Given the description of an element on the screen output the (x, y) to click on. 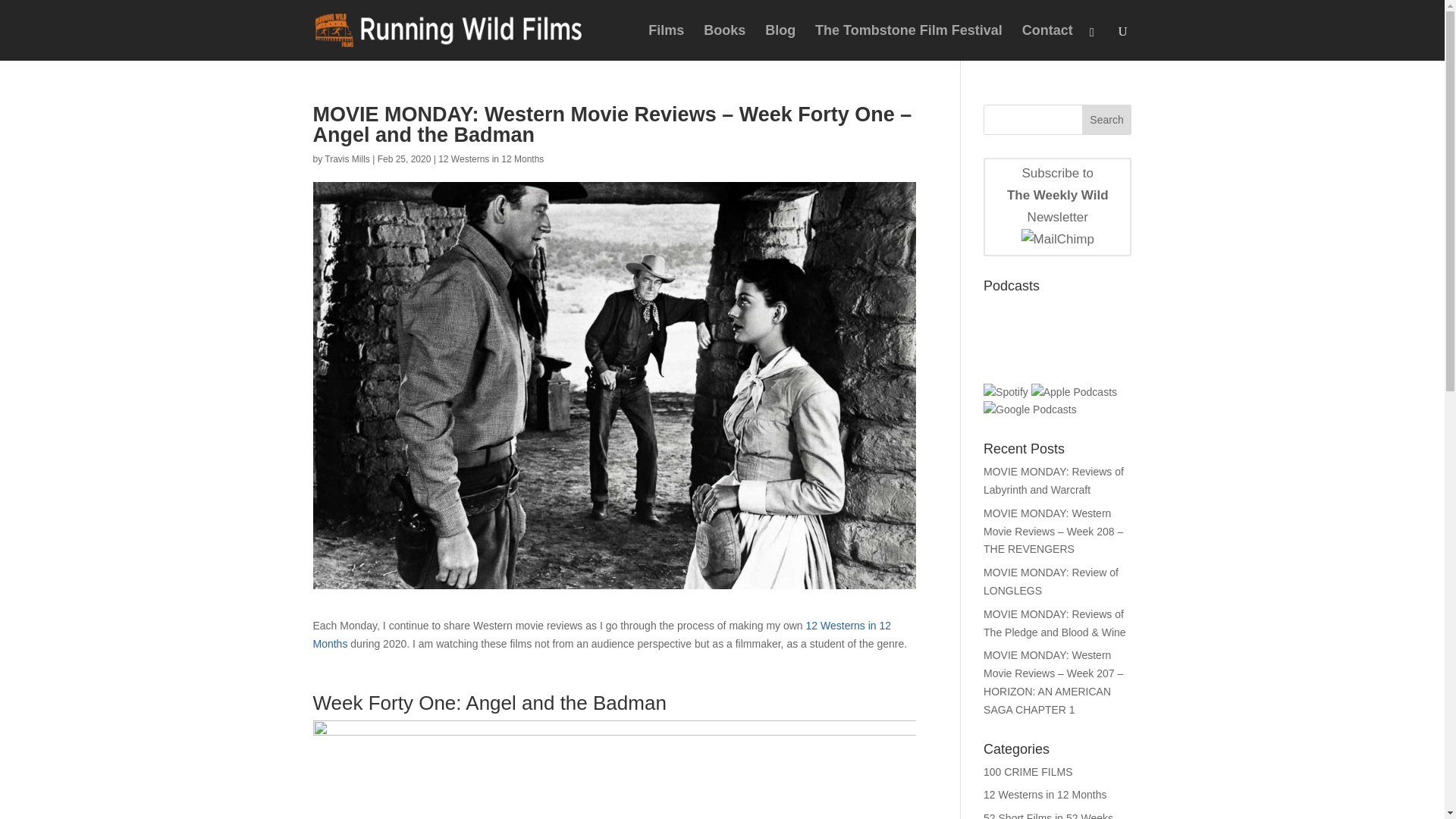
Search (1106, 119)
MOVIE MONDAY: Reviews of Labyrinth and Warcraft (1054, 481)
100 CRIME FILMS (1027, 771)
Films (665, 42)
12 Westerns in 12 Months (490, 158)
12 Westerns in 12 Months (1057, 207)
Posts by Travis Mills (1045, 794)
The Tombstone Film Festival (346, 158)
Travis Mills (909, 42)
Contact (346, 158)
Books (1047, 42)
Search (724, 42)
52 Short Films in 52 Weeks (1106, 119)
